Given the description of an element on the screen output the (x, y) to click on. 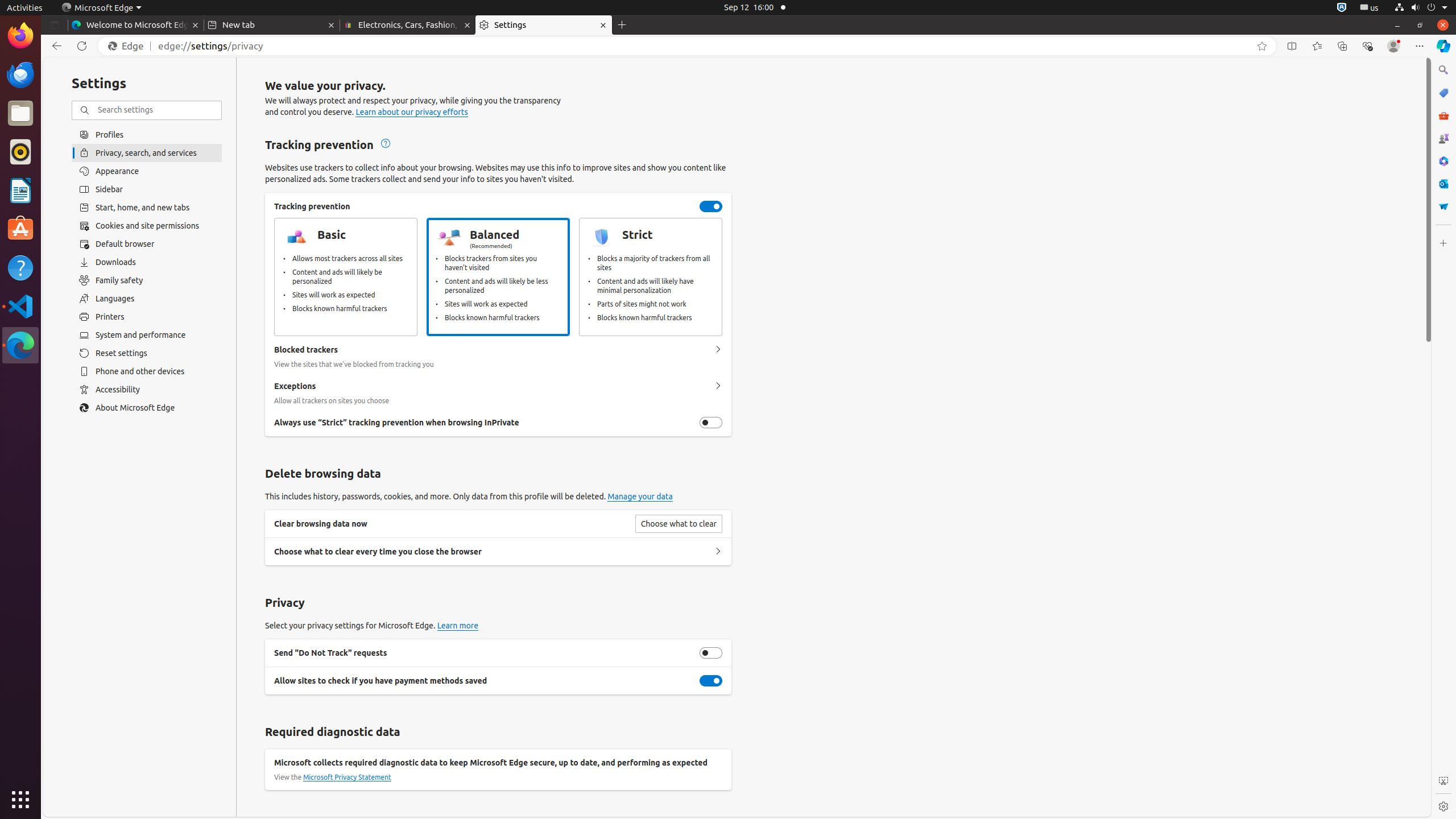
Choose what to clear Element type: push-button (678, 523)
Copilot (Ctrl+Shift+.) Element type: push-button (1443, 45)
Customize Element type: push-button (1443, 243)
Files Element type: push-button (20, 113)
Back Element type: push-button (54, 45)
